Given the description of an element on the screen output the (x, y) to click on. 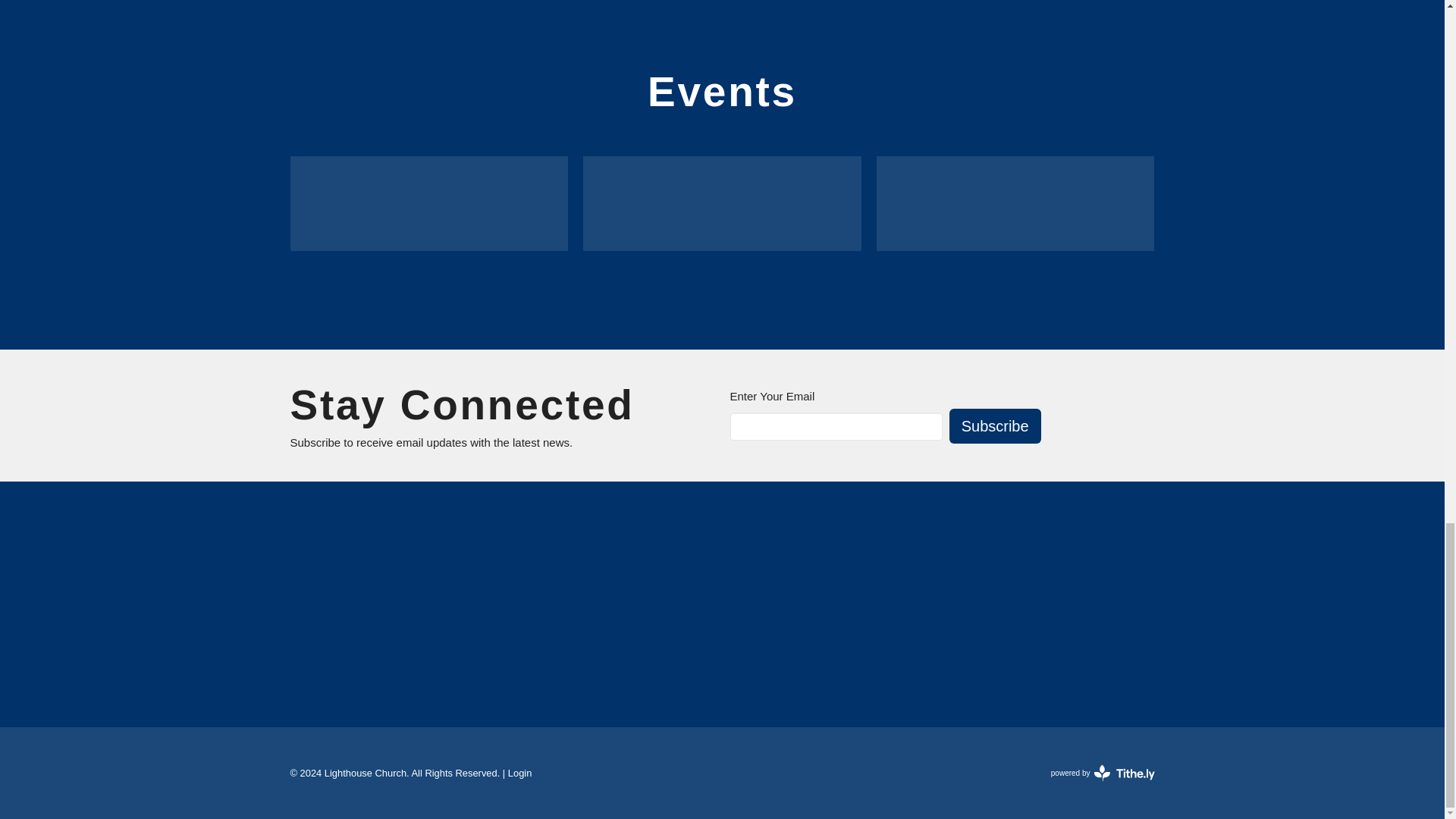
Subscribe (995, 426)
Login (520, 772)
